Given the description of an element on the screen output the (x, y) to click on. 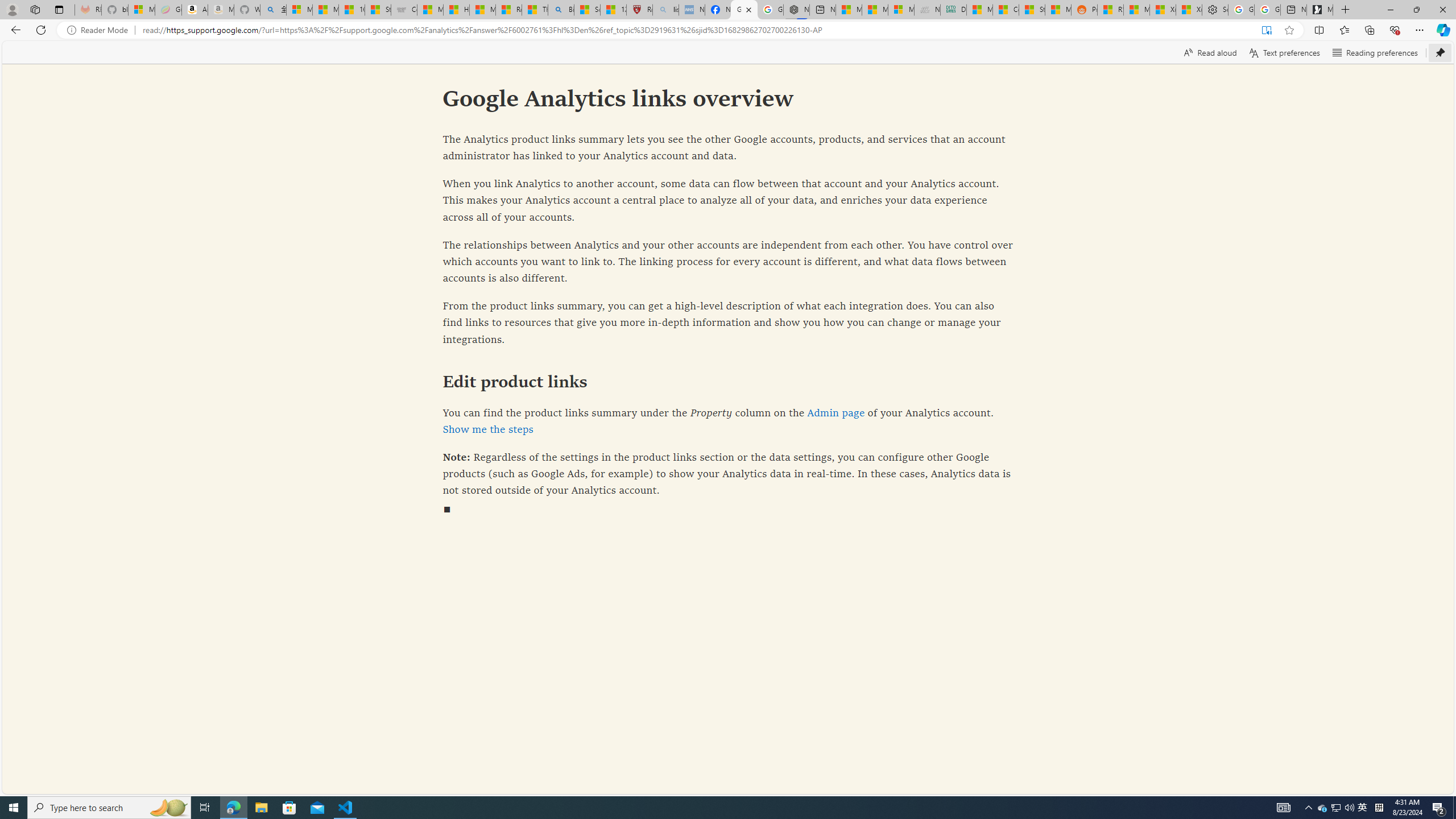
Combat Siege (403, 9)
Exit Immersive Reader (F9) (1266, 29)
How I Got Rid of Microsoft Edge's Unnecessary Features (456, 9)
